Given the description of an element on the screen output the (x, y) to click on. 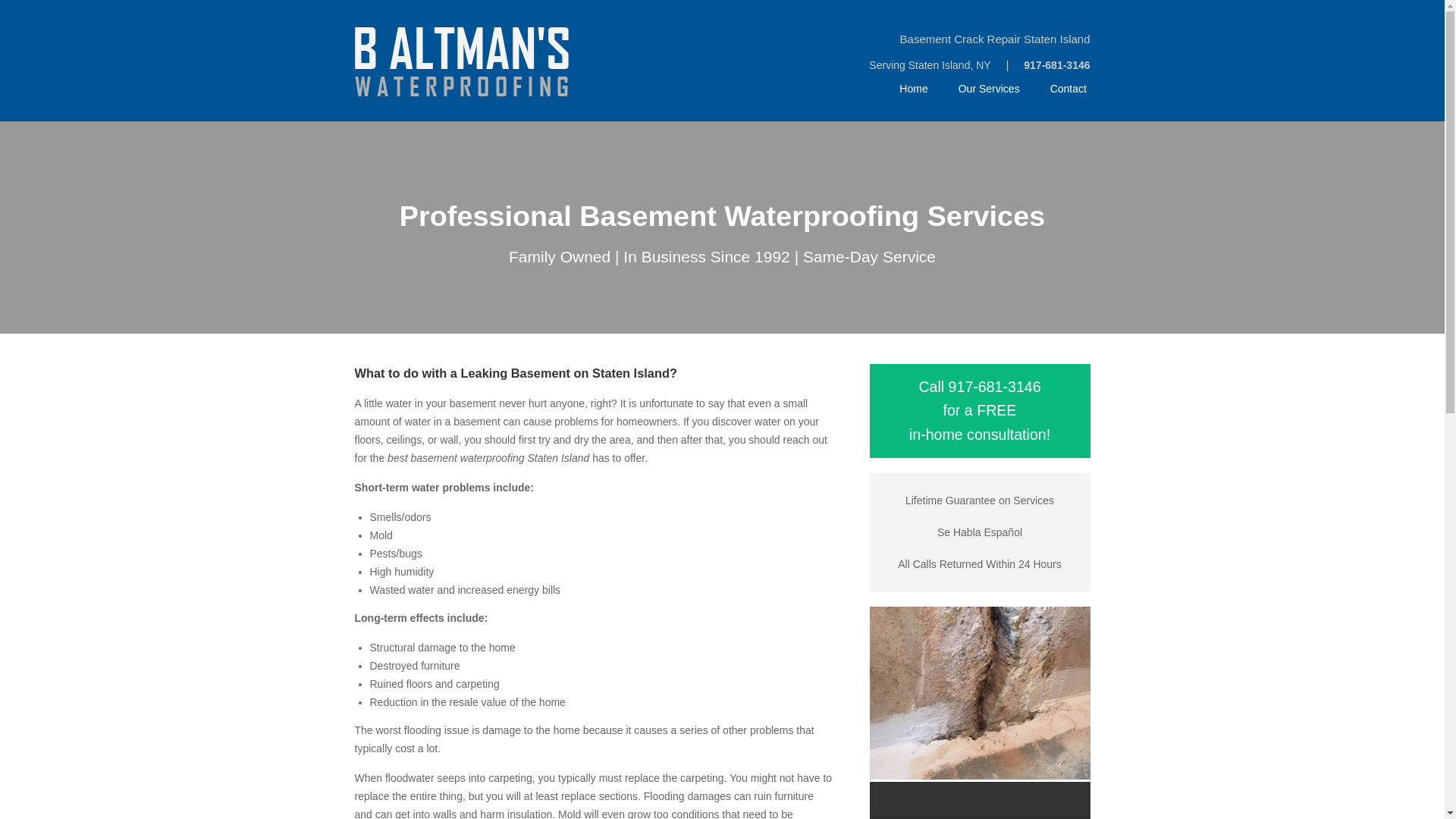
Our Services (989, 88)
Waterproofing Contractors Staten Island (979, 800)
Contact (1067, 88)
Home (913, 88)
